Given the description of an element on the screen output the (x, y) to click on. 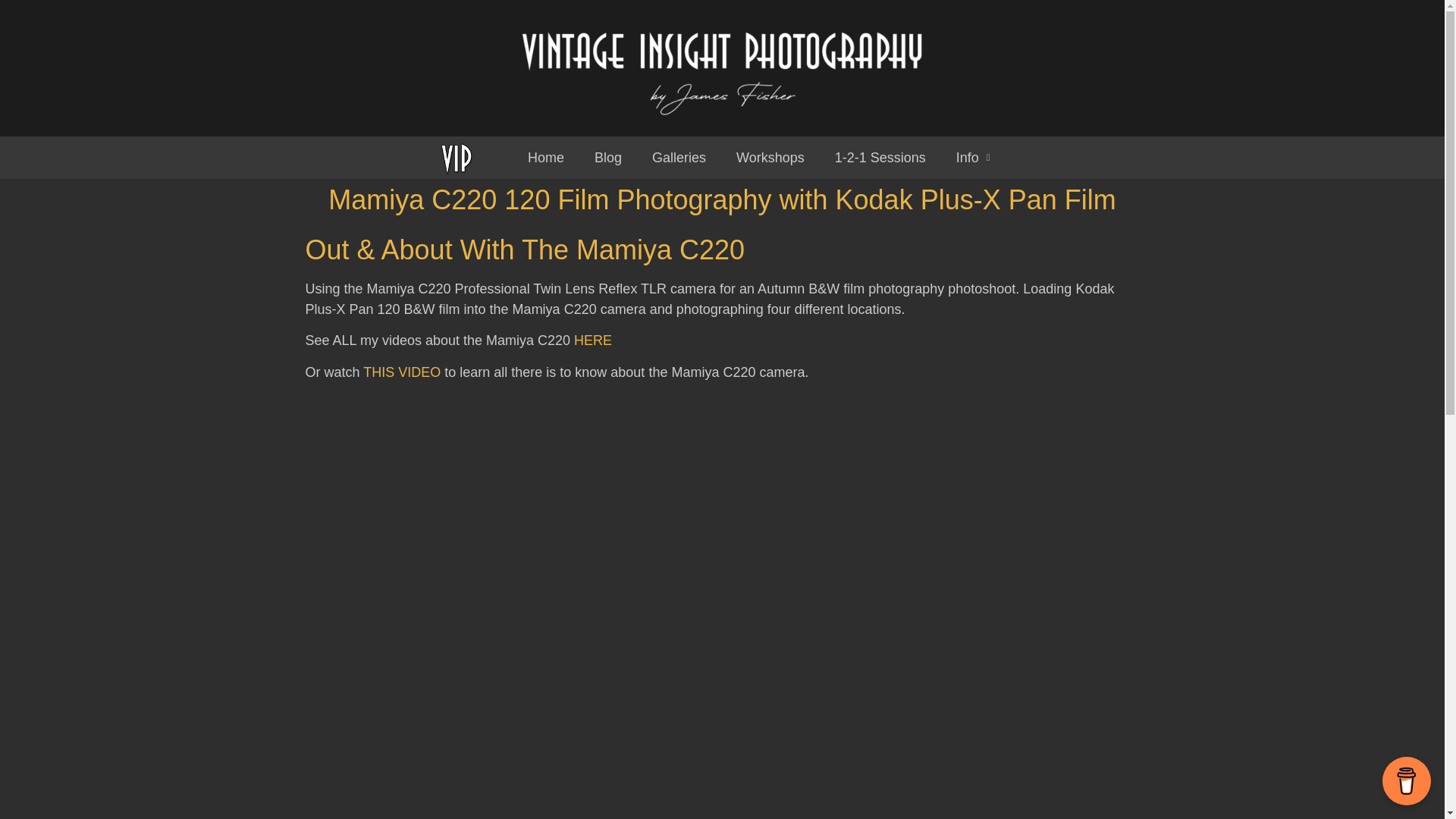
1-2-1 Sessions (879, 157)
Info (973, 157)
HERE (592, 340)
Home (545, 157)
Galleries (678, 157)
THIS VIDEO (401, 372)
Blog (608, 157)
Workshops (769, 157)
